Given the description of an element on the screen output the (x, y) to click on. 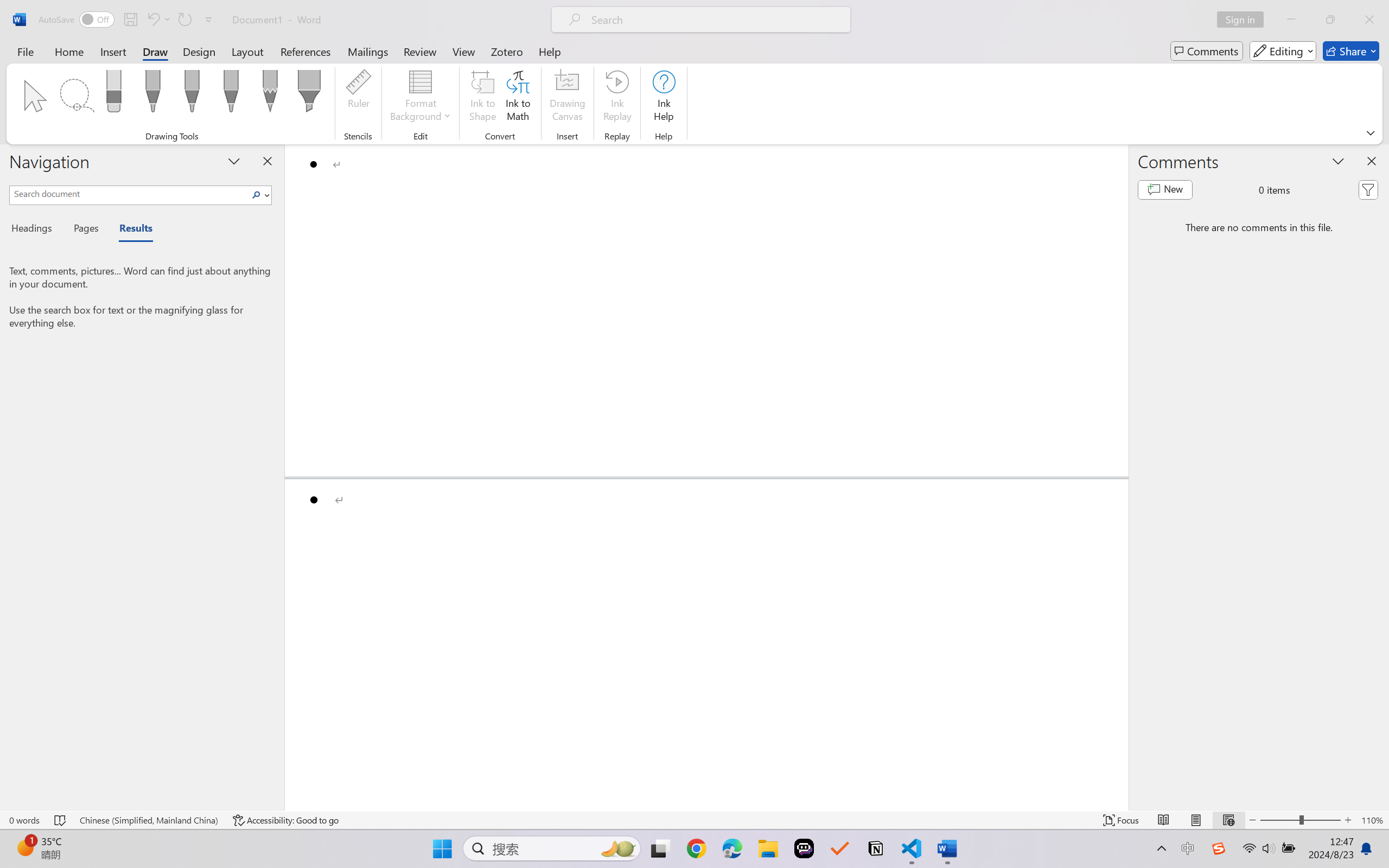
Ink Help (663, 97)
